Given the description of an element on the screen output the (x, y) to click on. 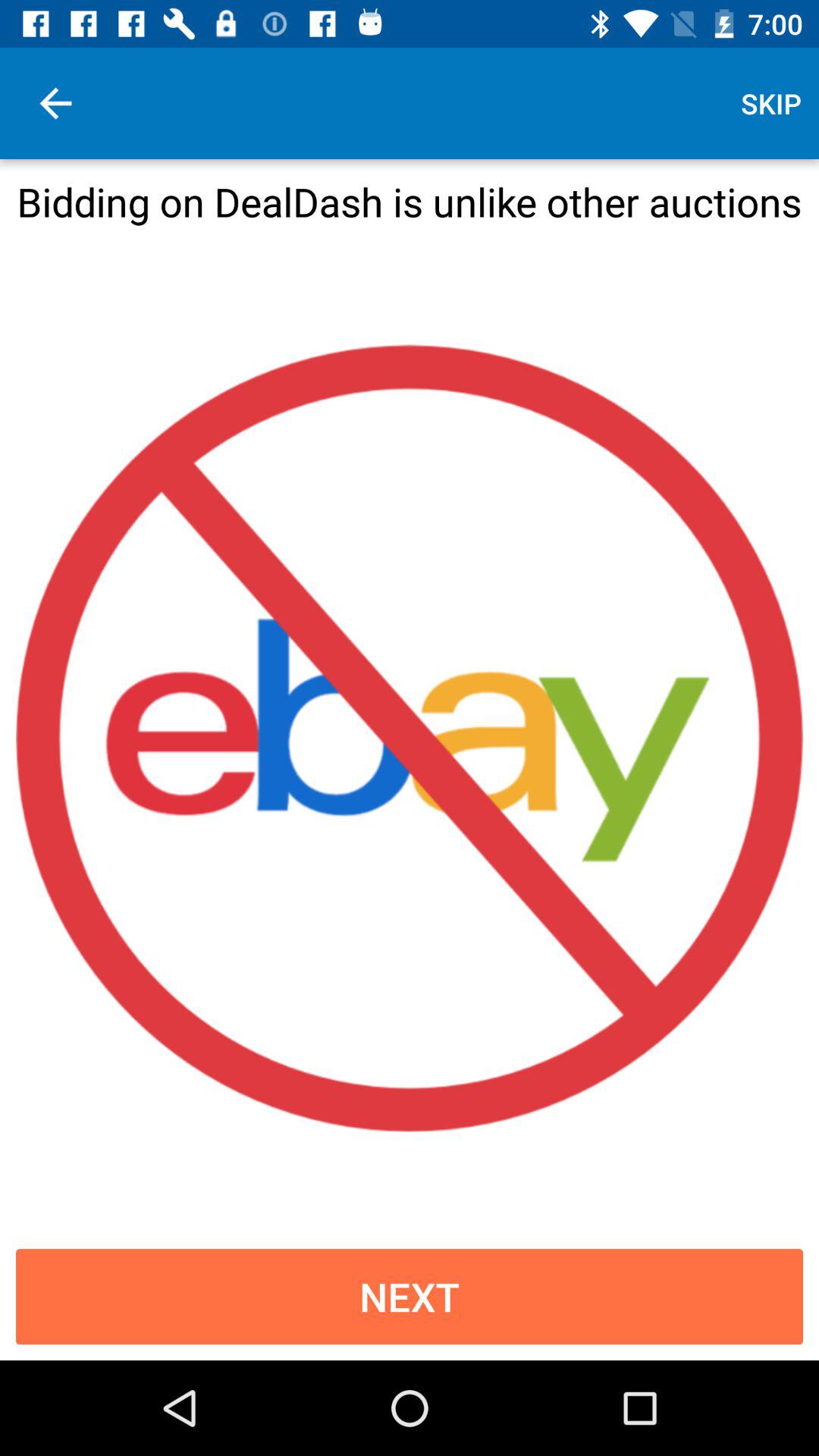
jump until next icon (409, 1296)
